Given the description of an element on the screen output the (x, y) to click on. 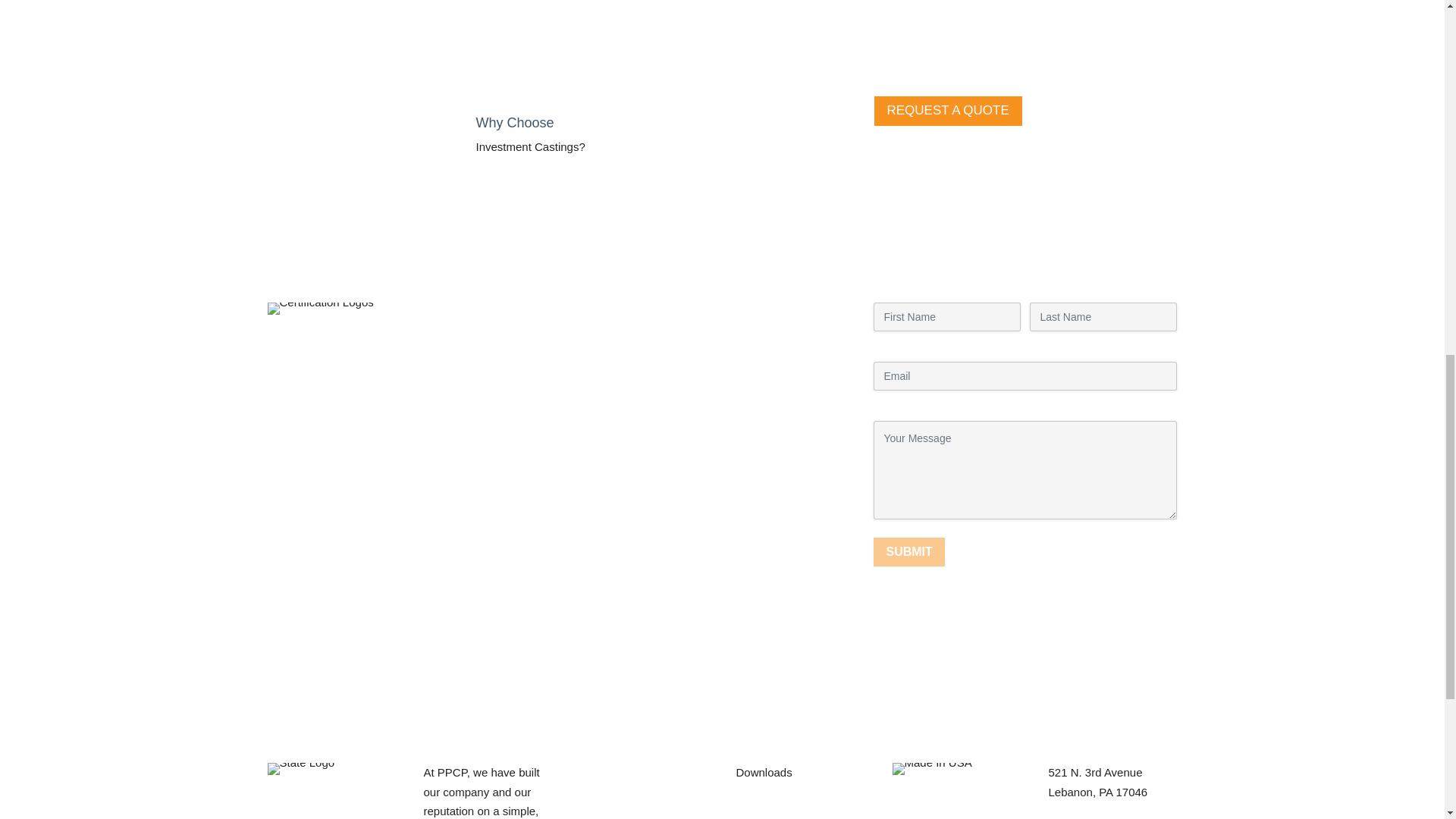
REQUEST A QUOTE (947, 111)
Certification Logos (319, 307)
Submit (908, 551)
State Logo (300, 768)
Submit (908, 551)
Made In USA (931, 768)
